Given the description of an element on the screen output the (x, y) to click on. 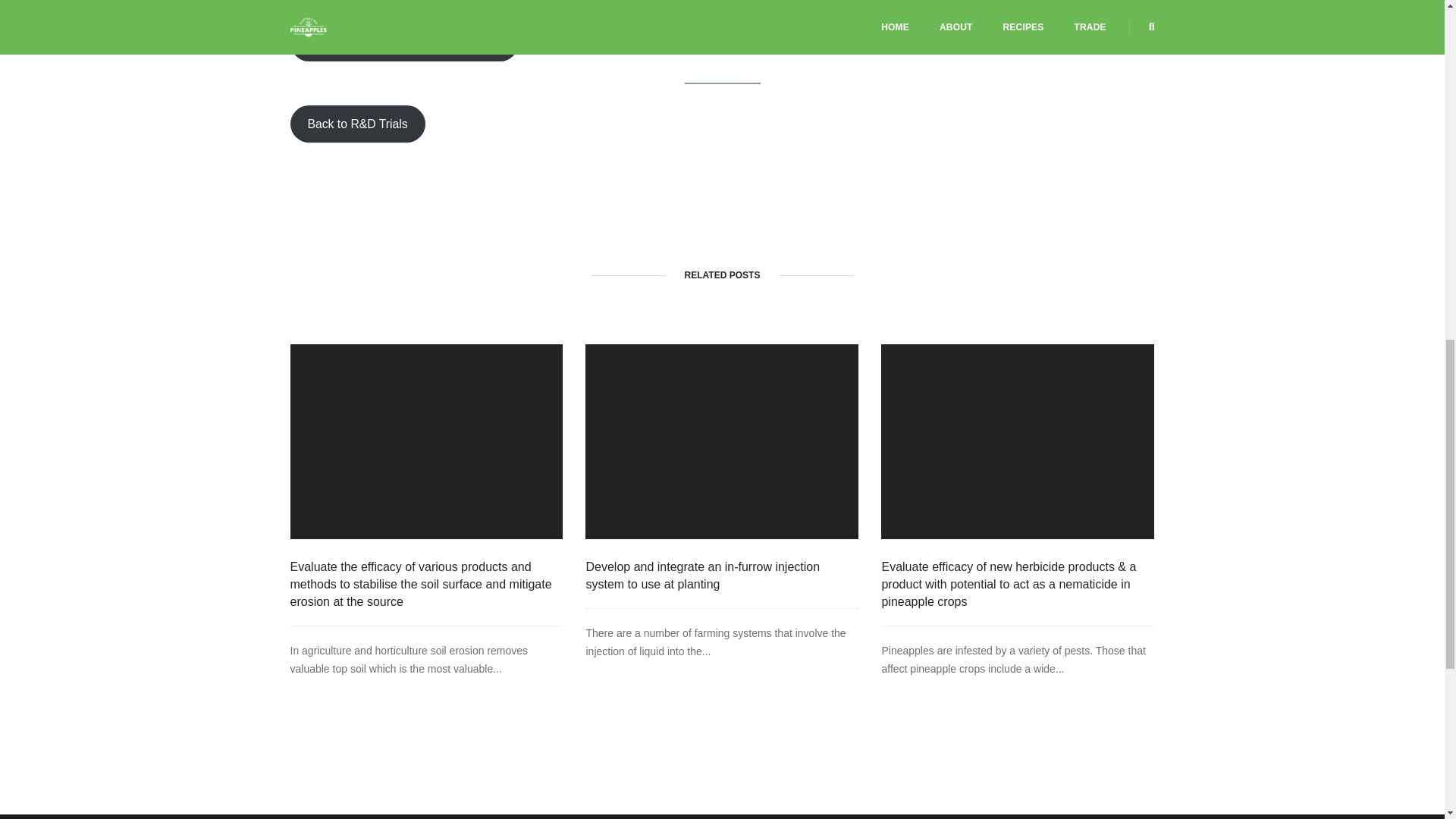
Click here to download the full report (403, 42)
